Given the description of an element on the screen output the (x, y) to click on. 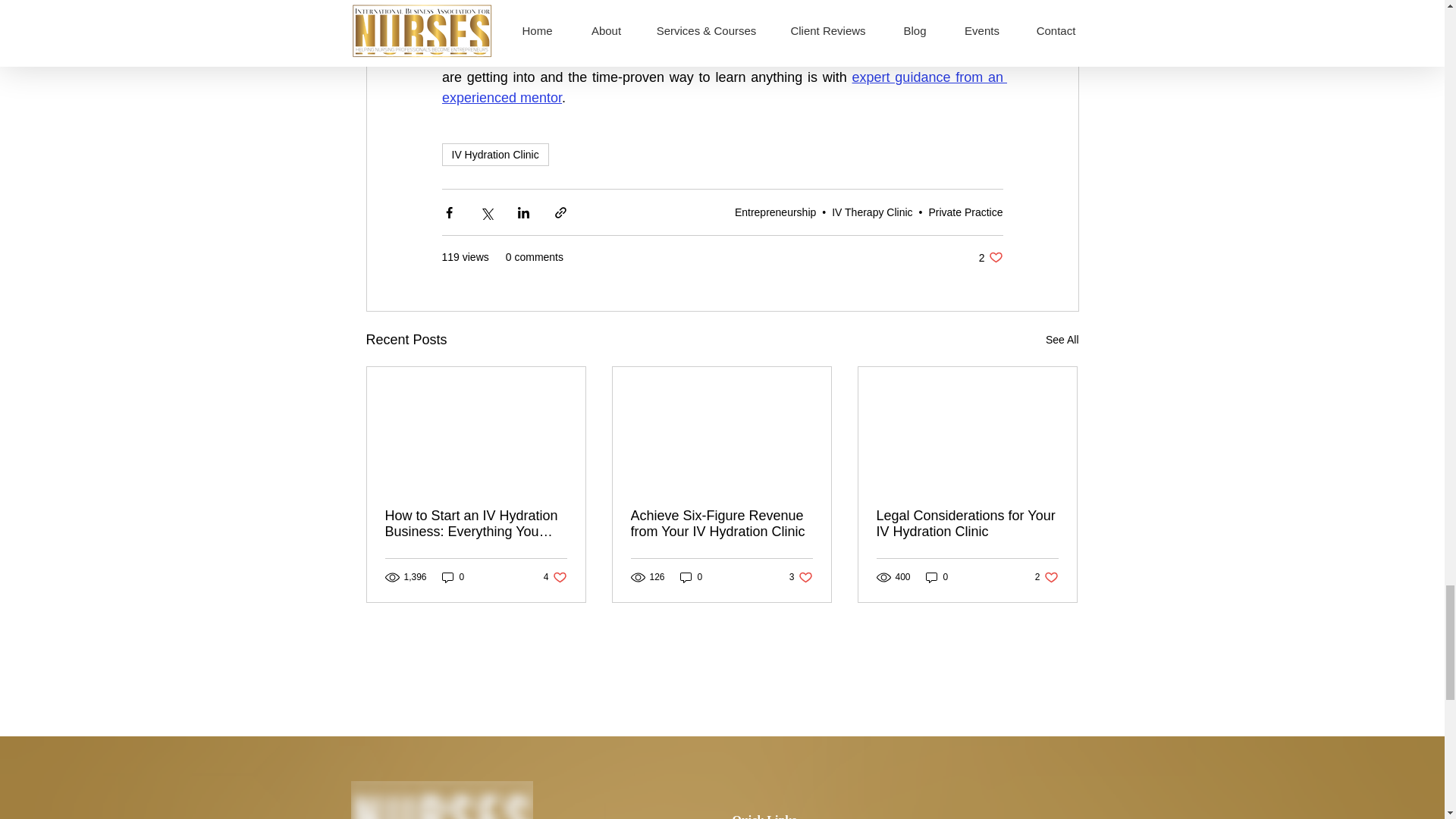
0 (453, 577)
IV Hydration Clinic (555, 577)
expert guidance from an experienced mentor (494, 154)
Private Practice (990, 257)
See All (723, 87)
IV Therapy Clinic (965, 212)
Entrepreneurship (1061, 340)
